Given the description of an element on the screen output the (x, y) to click on. 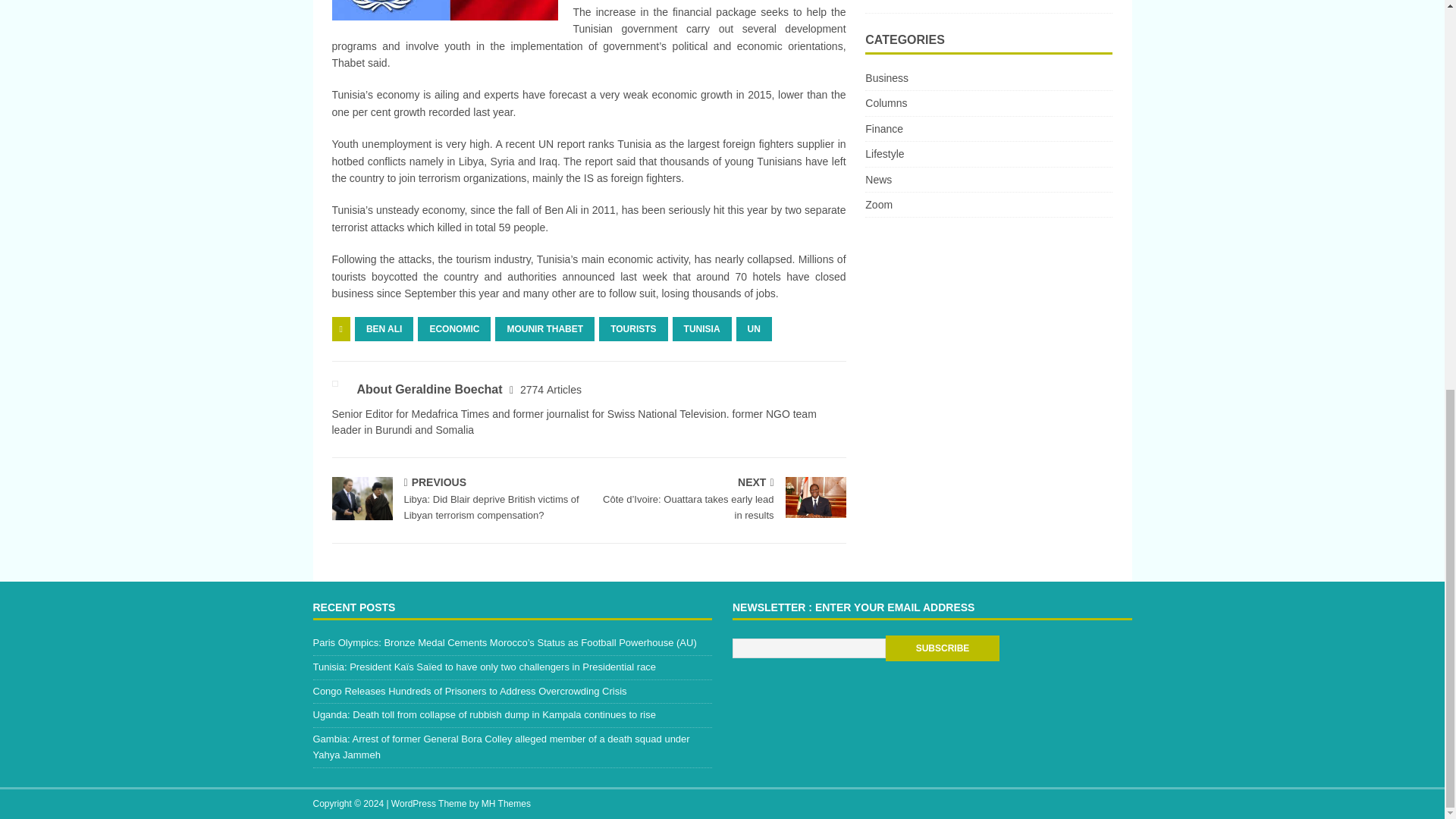
UN (753, 328)
TUNISIA (702, 328)
MOUNIR THABET (544, 328)
More articles written by Geraldine Boechat' (549, 389)
2774 Articles (549, 389)
ECONOMIC (453, 328)
TOURISTS (632, 328)
BEN ALI (384, 328)
Subscribe (941, 647)
